Given the description of an element on the screen output the (x, y) to click on. 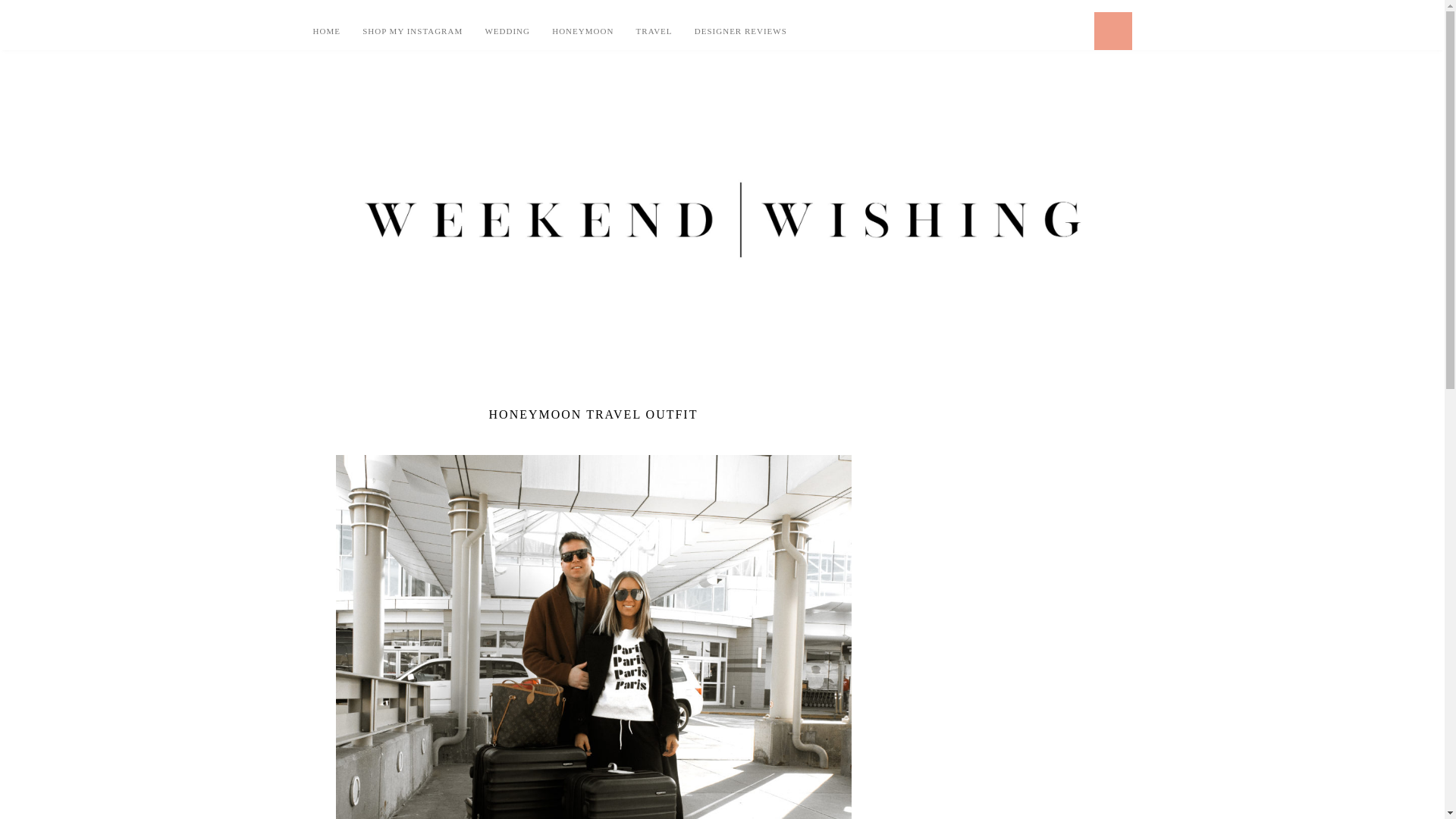
WEDDING (506, 30)
HONEYMOON (581, 30)
SHOP MY INSTAGRAM (412, 30)
TRAVEL (654, 30)
